Given the description of an element on the screen output the (x, y) to click on. 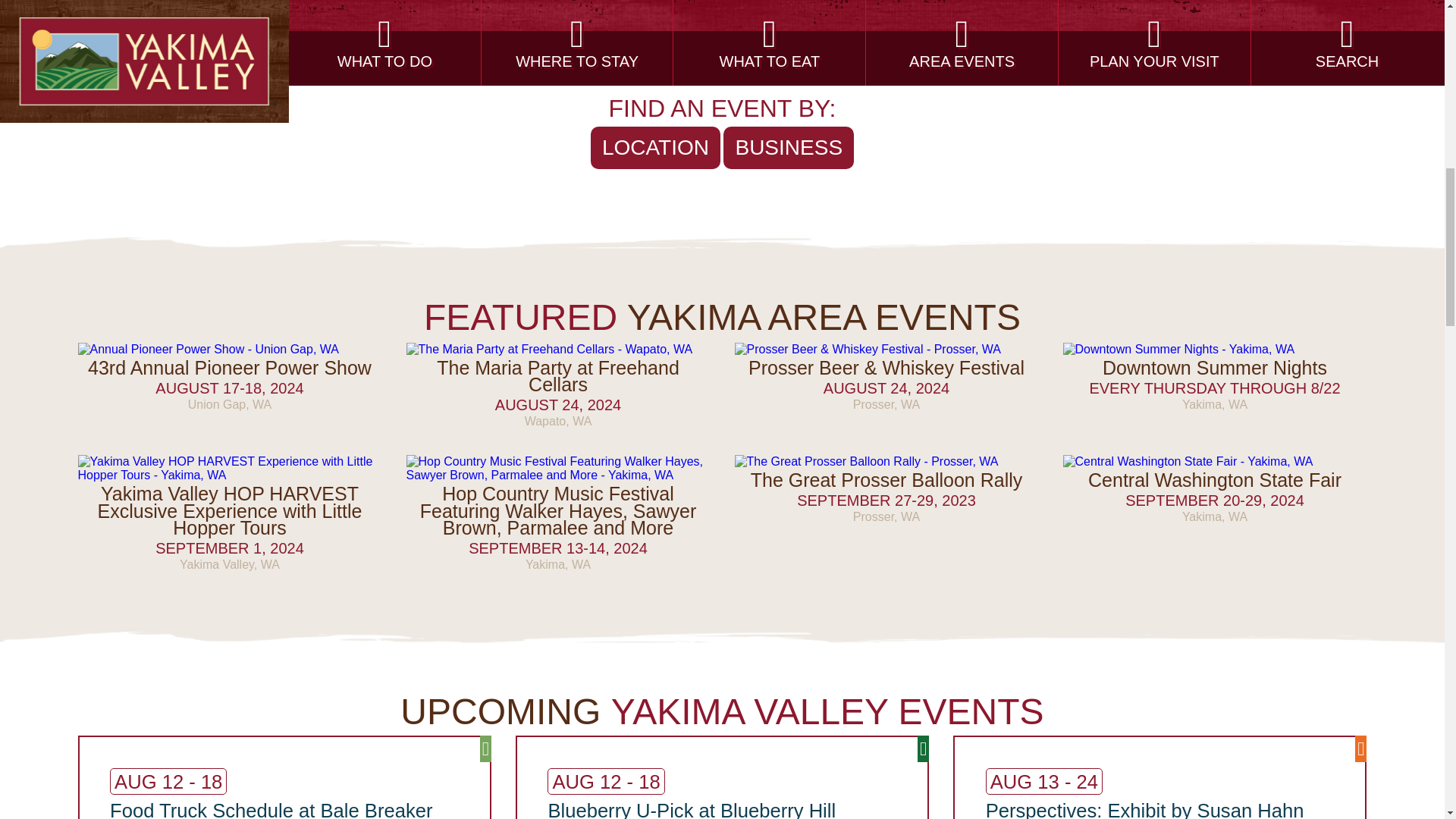
LOCATION (655, 147)
FESTIVALS (1115, 49)
BEER (272, 49)
BUSINESS (788, 147)
FOOD (826, 49)
FARM (473, 49)
OUTDOOR (373, 49)
